Given the description of an element on the screen output the (x, y) to click on. 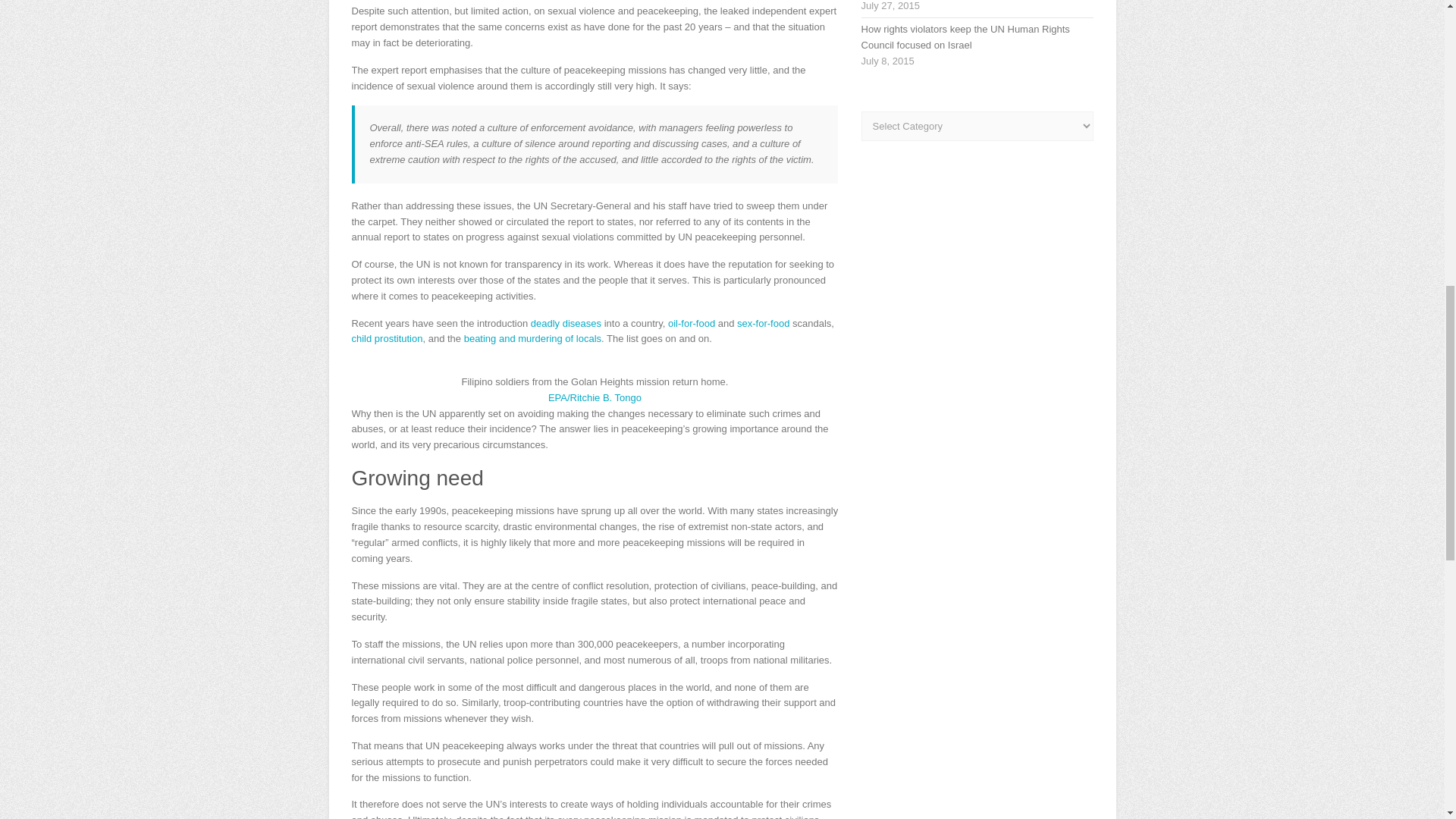
child prostitution (387, 337)
deadly diseases (566, 323)
beating and murdering of locals (532, 337)
sex-for-food (762, 323)
oil-for-food (691, 323)
